Given the description of an element on the screen output the (x, y) to click on. 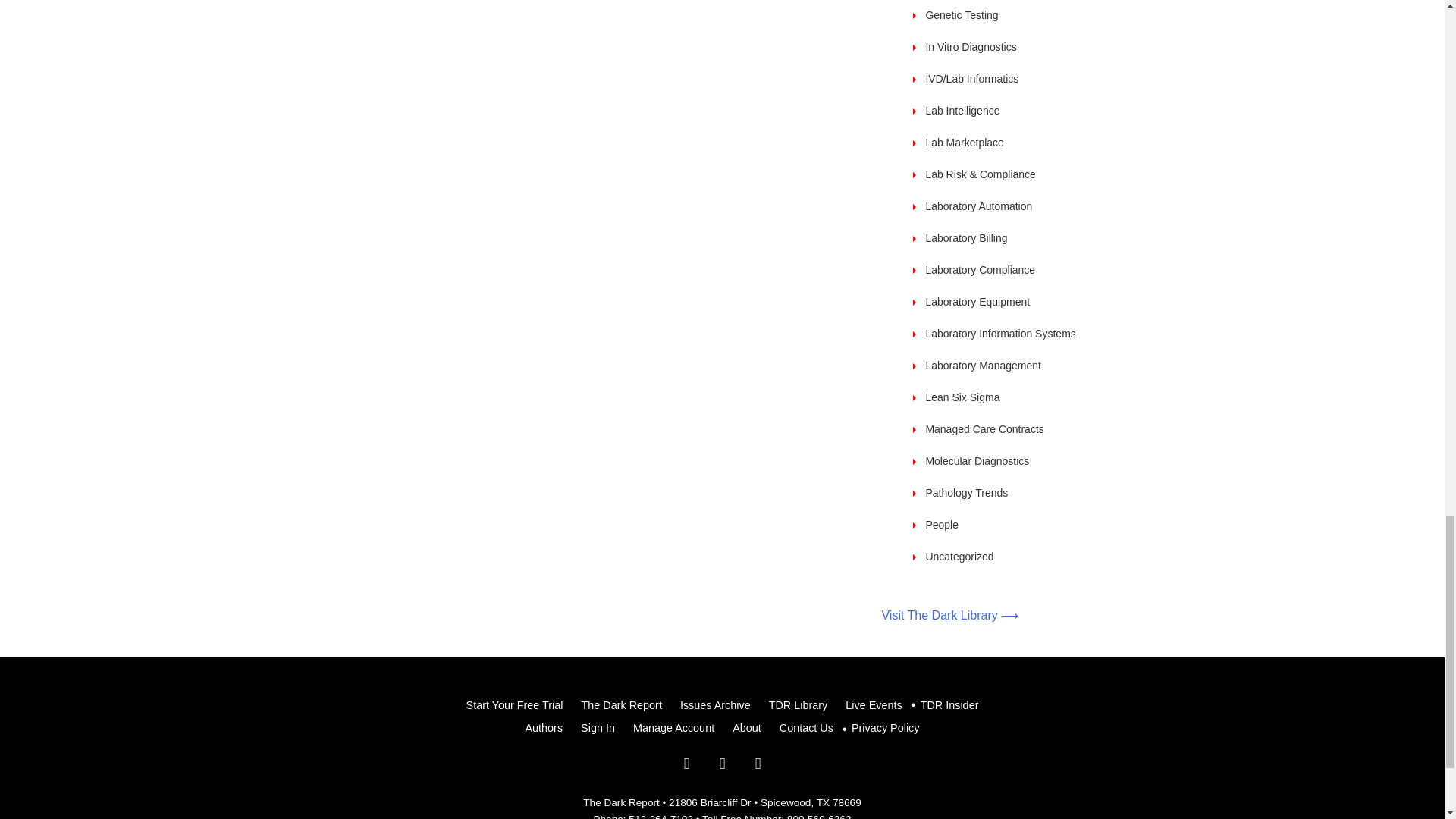
View Commentary Briefing (960, 15)
View Commentary Briefing (961, 110)
View Commentary Briefing (964, 142)
View Commentary Briefing (970, 78)
View Commentary Briefing (979, 174)
View Commentary Briefing (970, 46)
